Given the description of an element on the screen output the (x, y) to click on. 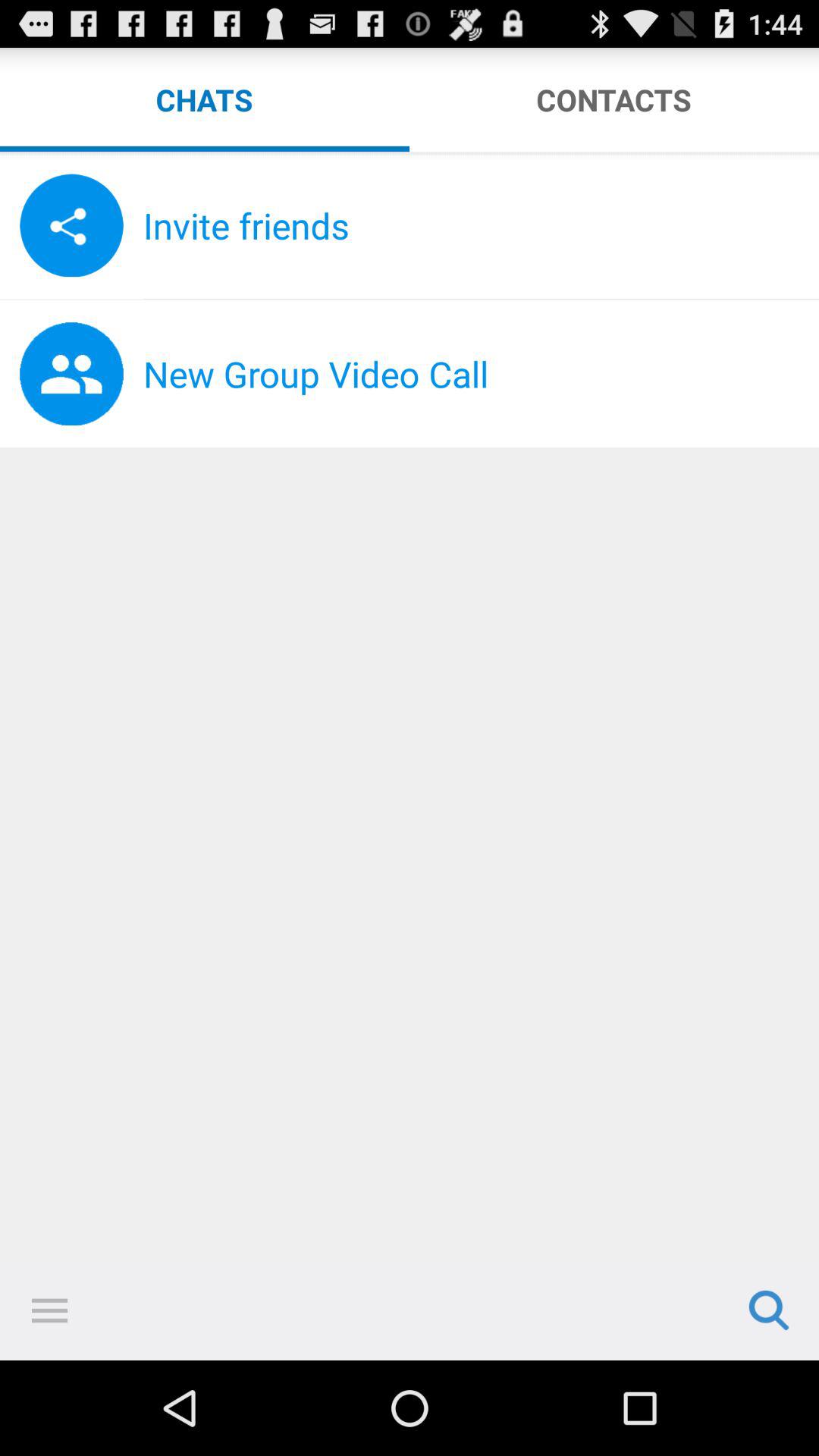
launch the icon below chats (409, 155)
